Given the description of an element on the screen output the (x, y) to click on. 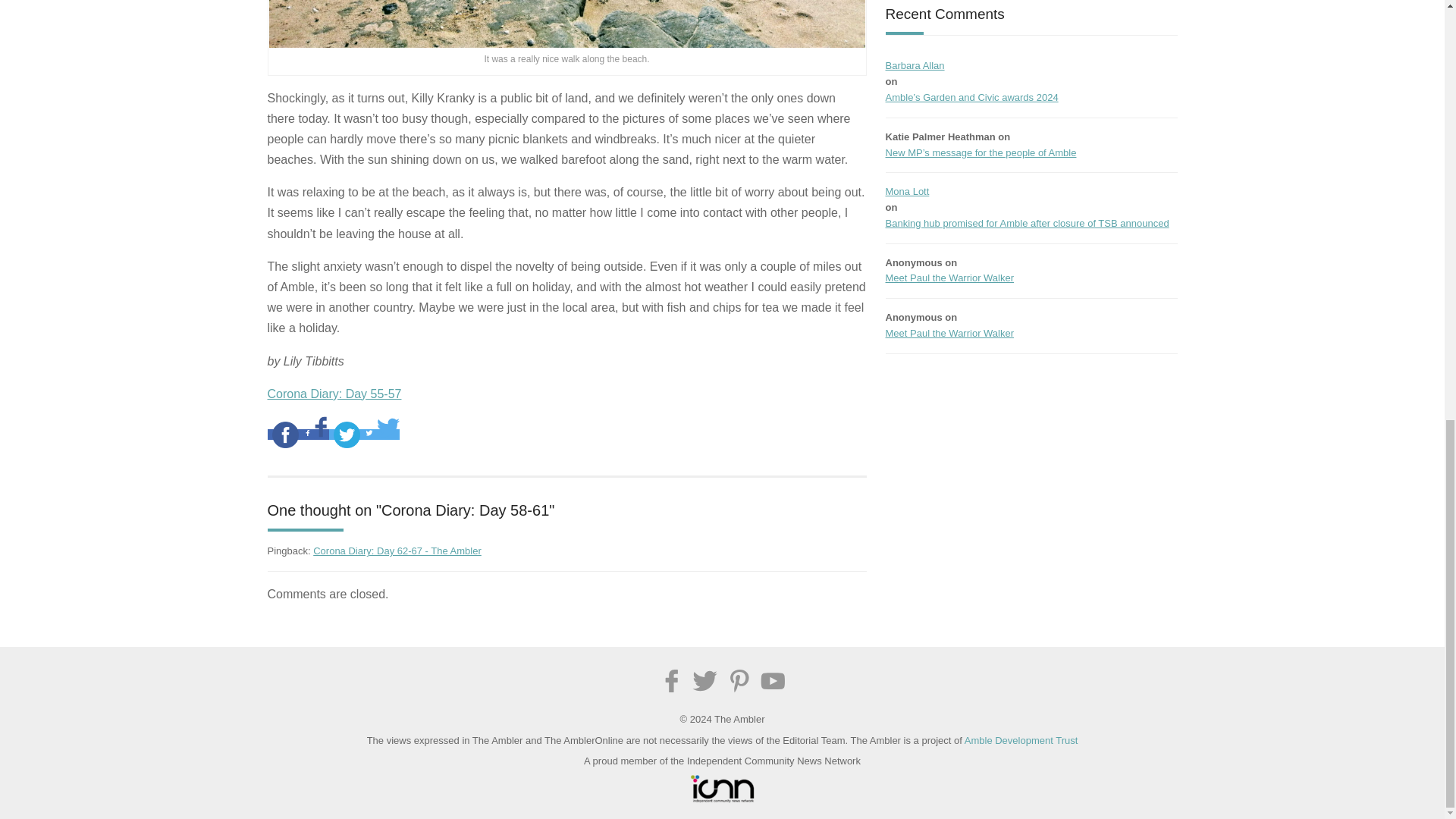
twitter (347, 434)
facebook (284, 434)
